Given the description of an element on the screen output the (x, y) to click on. 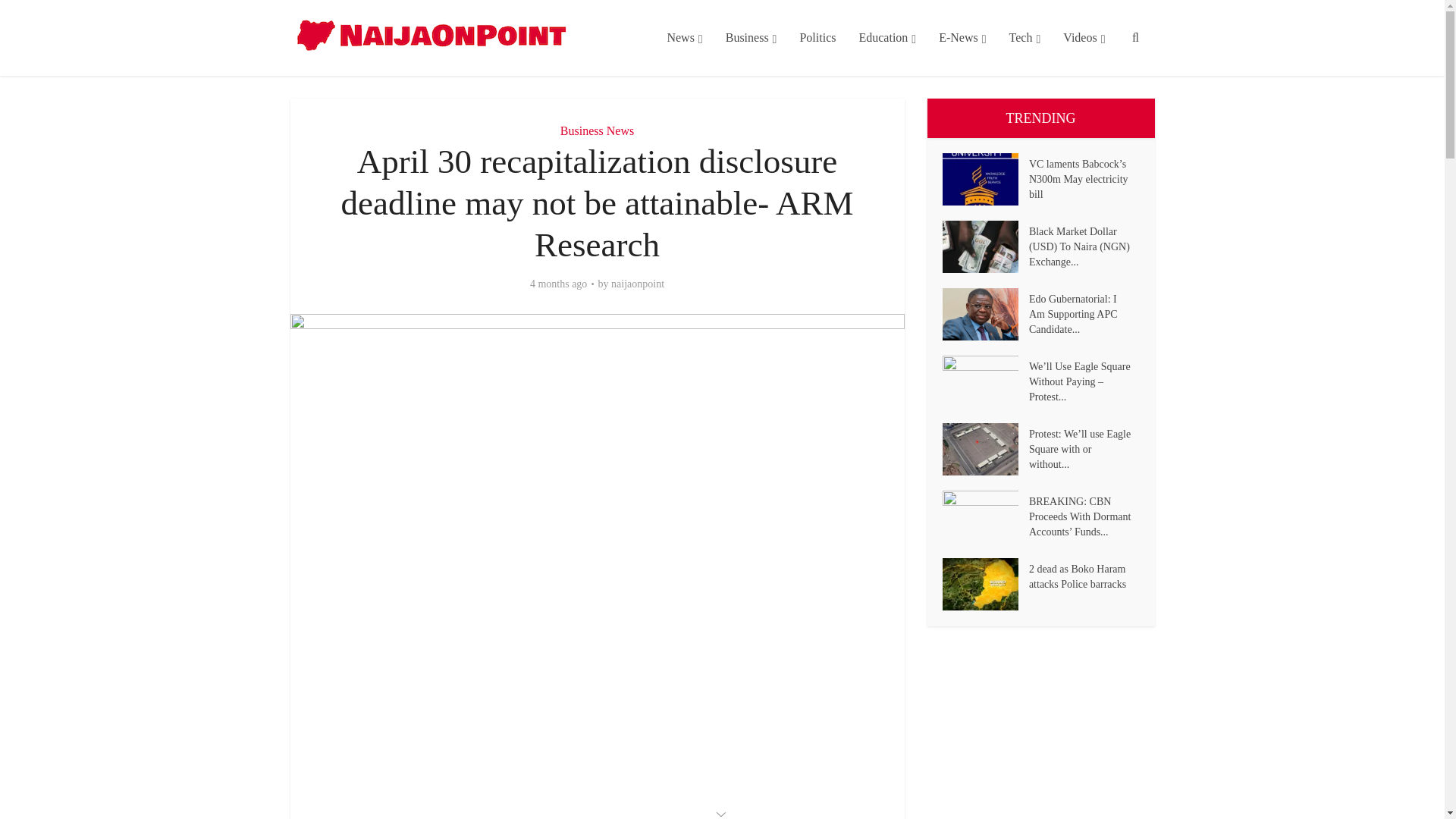
E-News (962, 38)
Ad.Plus Advertising (722, 813)
Education (887, 38)
Business (751, 38)
